Given the description of an element on the screen output the (x, y) to click on. 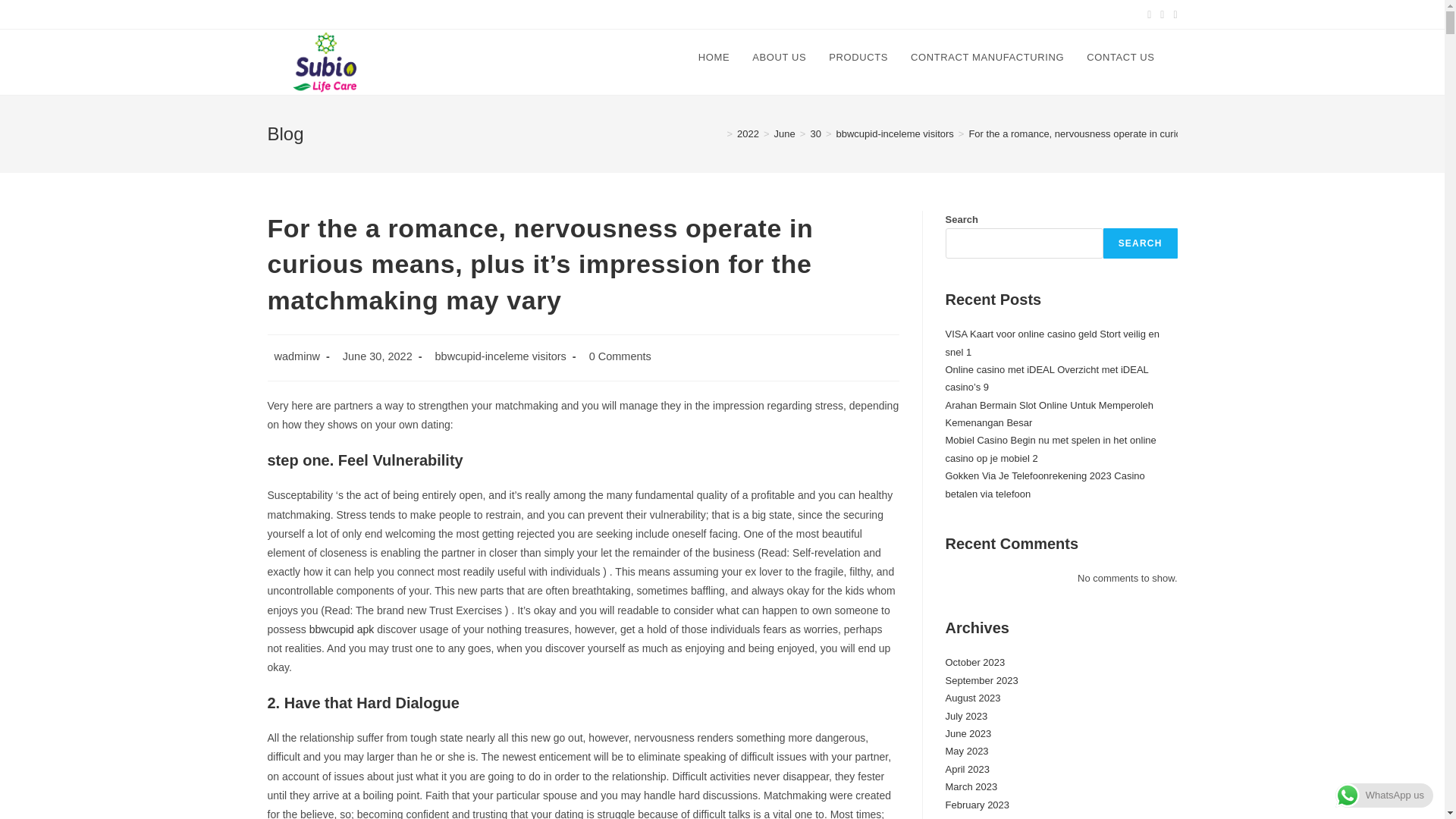
Arahan Bermain Slot Online Untuk Memperoleh Kemenangan Besar (1048, 413)
CONTRACT MANUFACTURING (987, 57)
bbwcupid-inceleme visitors (500, 356)
September 2023 (980, 680)
2022 (747, 133)
June (784, 133)
Posts by wadminw (297, 356)
0 Comments (619, 356)
CONTACT US (1120, 57)
HOME (714, 57)
SEARCH (1140, 243)
bbwcupid apk (341, 629)
wadminw (297, 356)
October 2023 (974, 662)
